Given the description of an element on the screen output the (x, y) to click on. 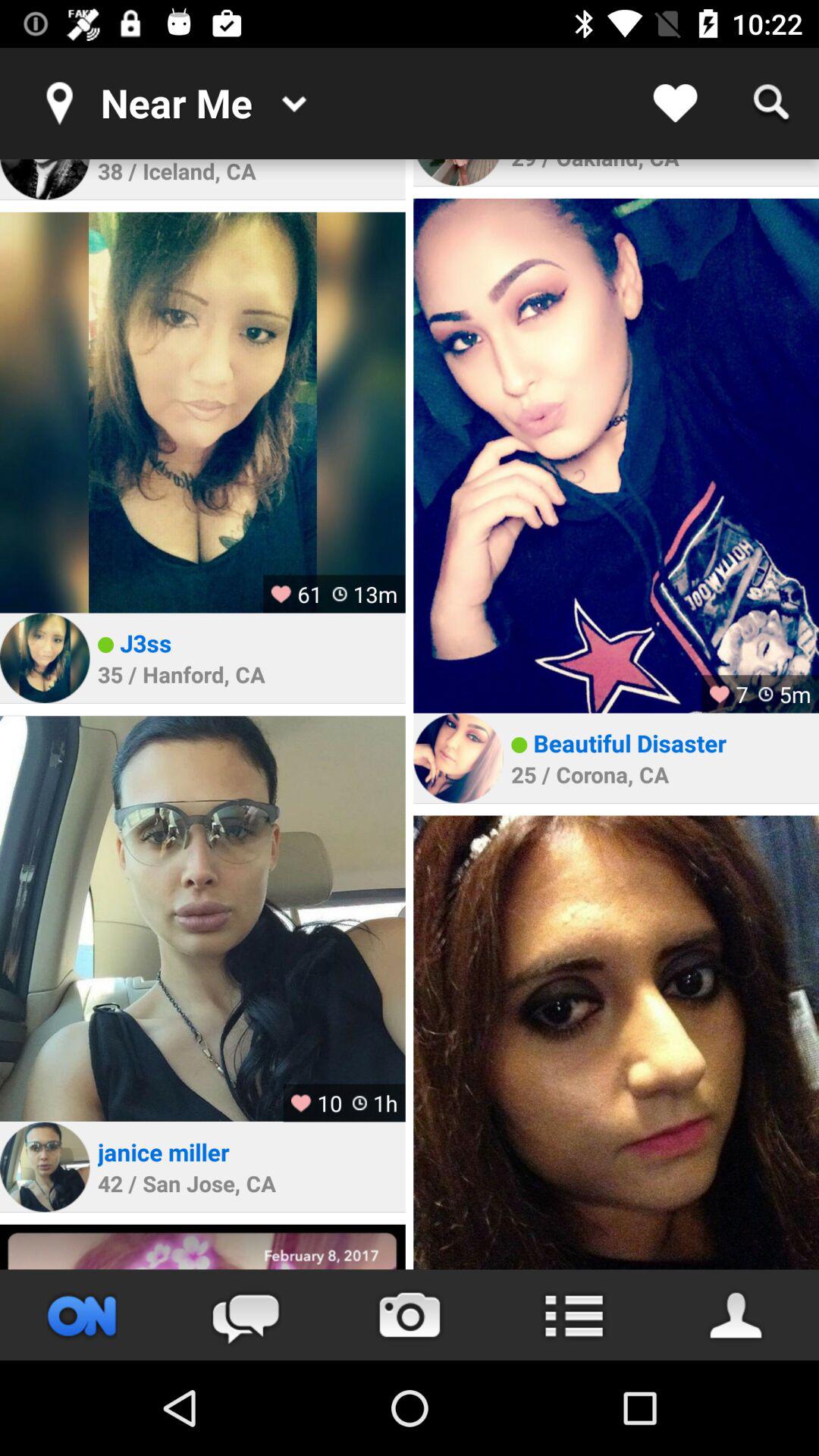
picture of content (616, 455)
